Given the description of an element on the screen output the (x, y) to click on. 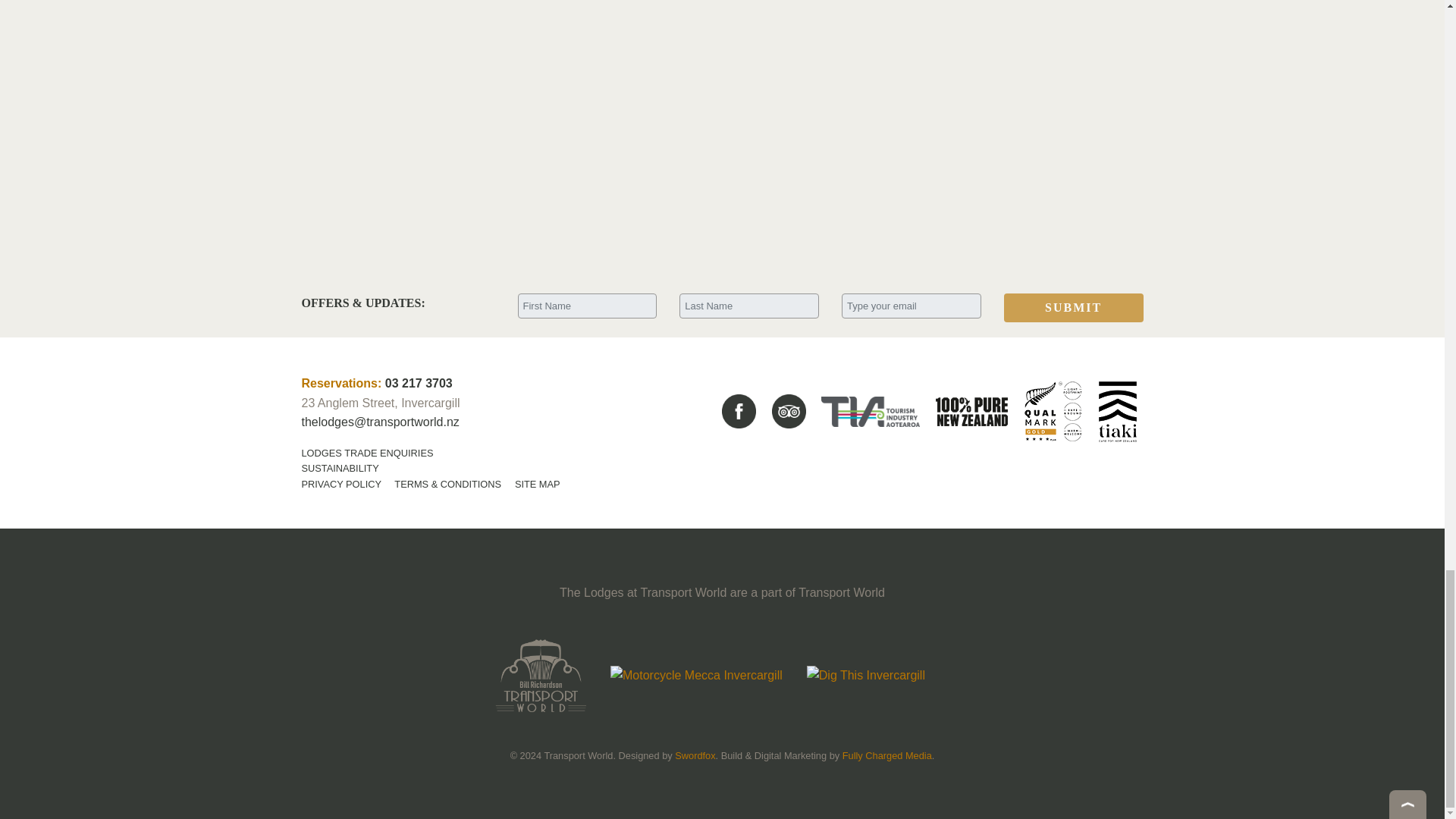
03 217 3703 (418, 382)
SUBMIT (1073, 307)
PRIVACY POLICY (341, 483)
LODGES TRADE ENQUIRIES (367, 452)
SUSTAINABILITY (339, 468)
